Given the description of an element on the screen output the (x, y) to click on. 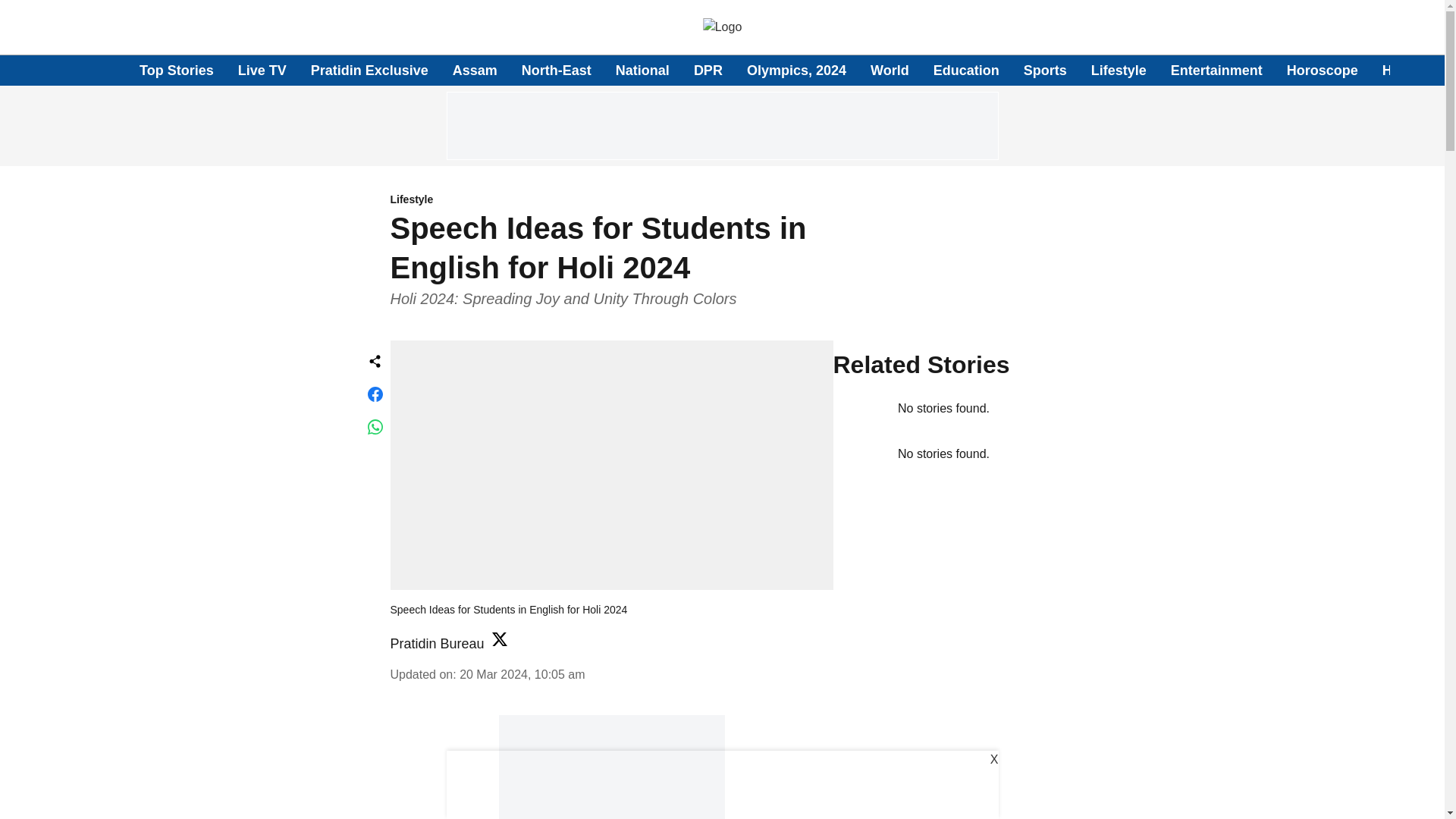
World (889, 70)
Lifestyle (1118, 70)
Assam (474, 70)
Education (965, 70)
Entertainment (1216, 70)
Top Stories (176, 70)
Pratidin Bureau (436, 642)
Health (1402, 70)
Horoscope (1322, 70)
North-East (556, 70)
Live TV (262, 70)
Sports (1045, 70)
Pratidin Exclusive (369, 70)
2024-03-20 10:05 (522, 673)
